Given the description of an element on the screen output the (x, y) to click on. 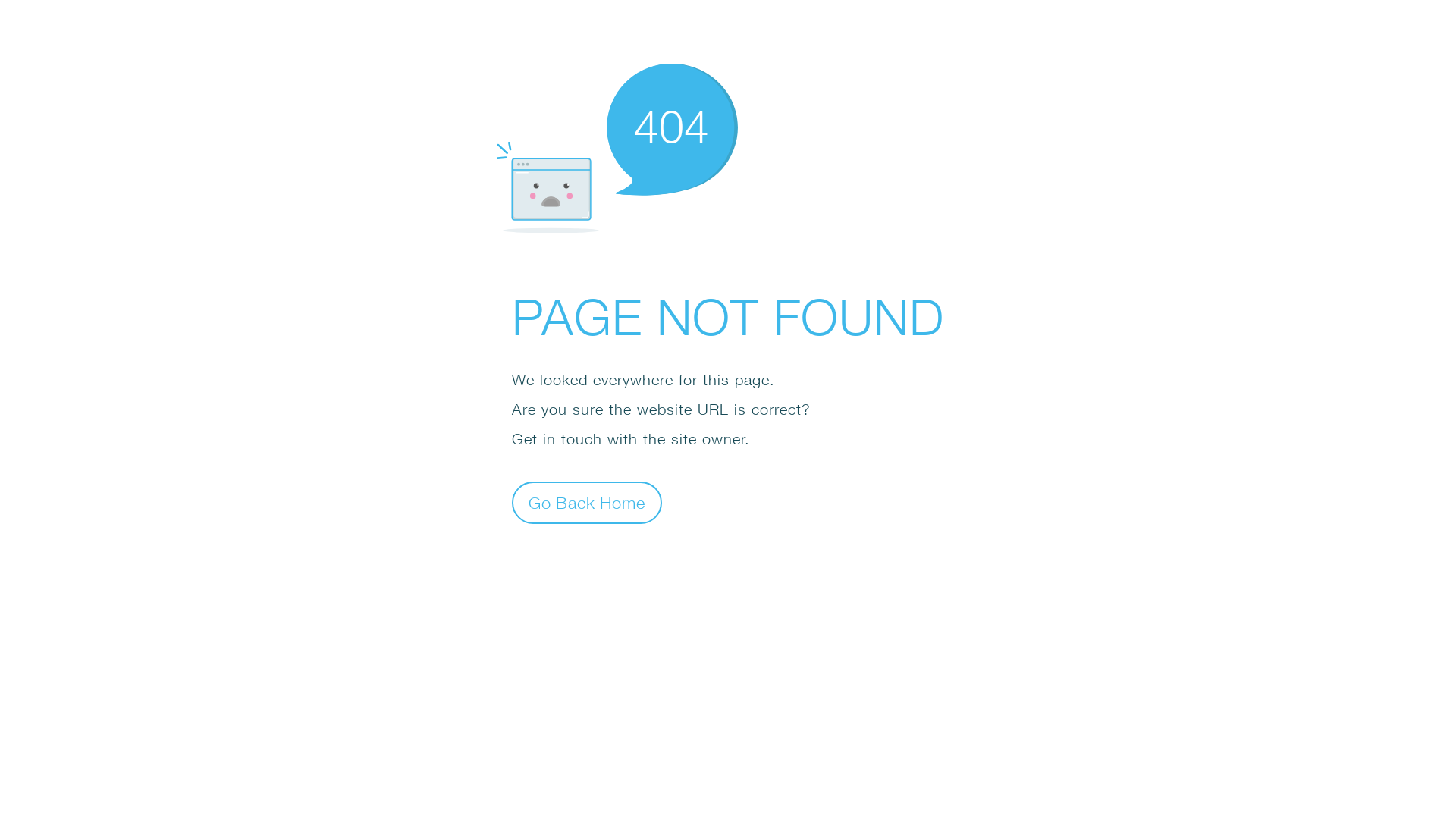
Go Back Home Element type: text (586, 502)
